Given the description of an element on the screen output the (x, y) to click on. 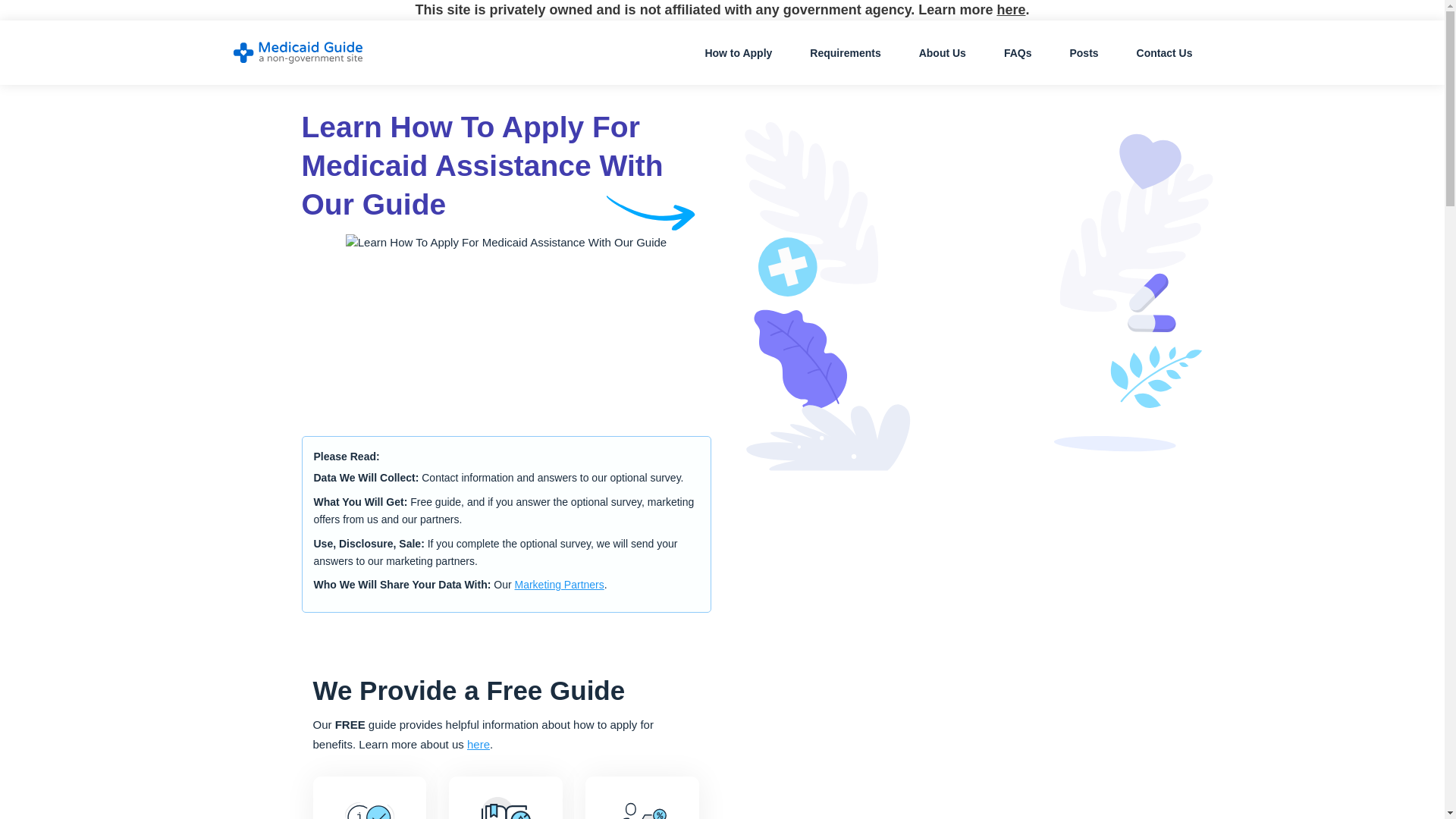
FAQs (1017, 52)
Marketing Partners (558, 584)
here (1010, 9)
How to Apply (738, 52)
Requirements (844, 52)
About Us (942, 52)
Contact Us (1164, 52)
Posts (1083, 52)
here (478, 744)
